Given the description of an element on the screen output the (x, y) to click on. 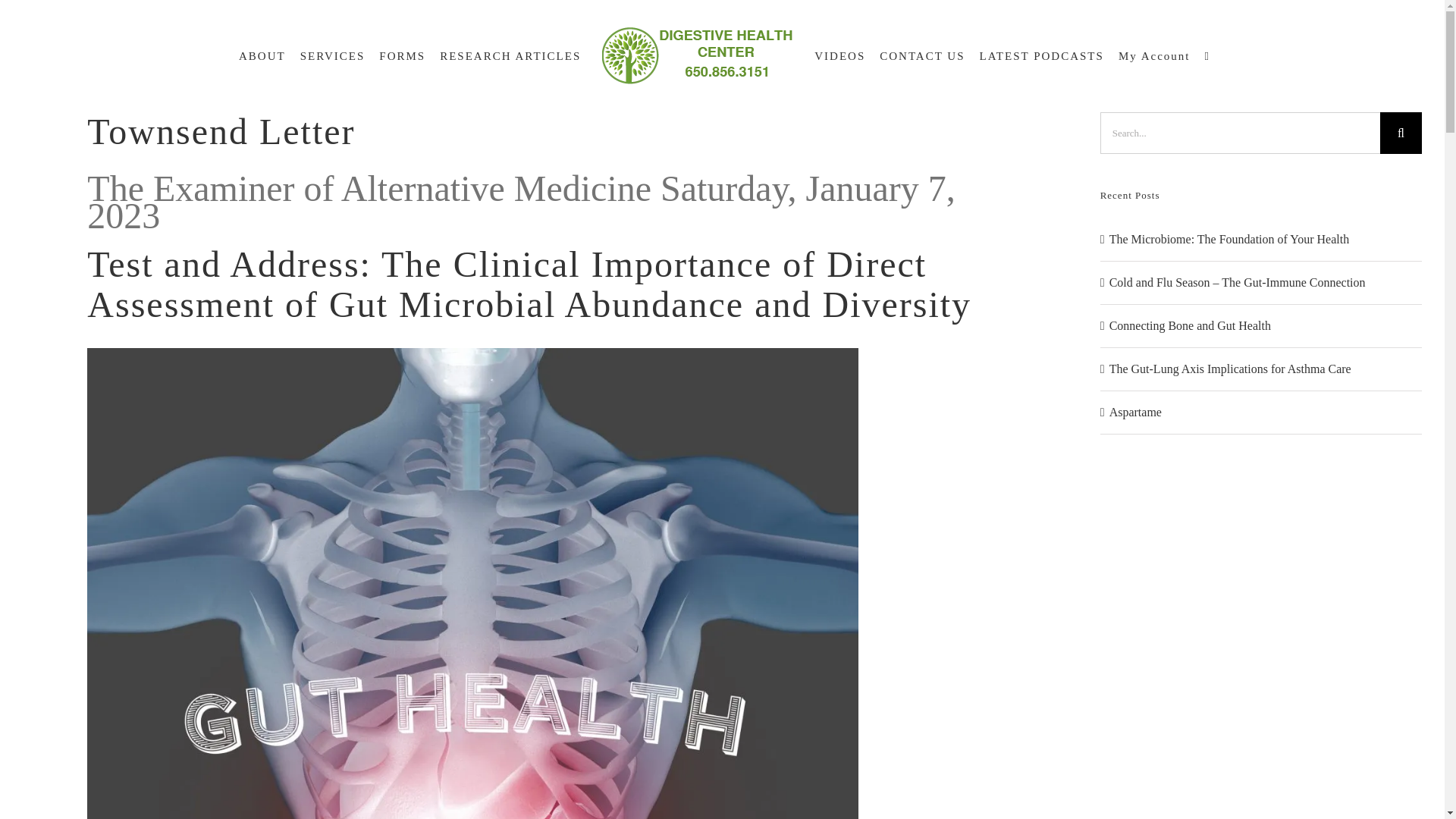
CONTACT US (921, 56)
VIDEOS (838, 56)
Townsend Letter (221, 131)
SERVICES (332, 56)
Log In (1209, 237)
LATEST PODCASTS (1041, 56)
The Examiner of Alternative Medicine (221, 131)
RESEARCH ARTICLES (509, 56)
My Account (1154, 56)
